Given the description of an element on the screen output the (x, y) to click on. 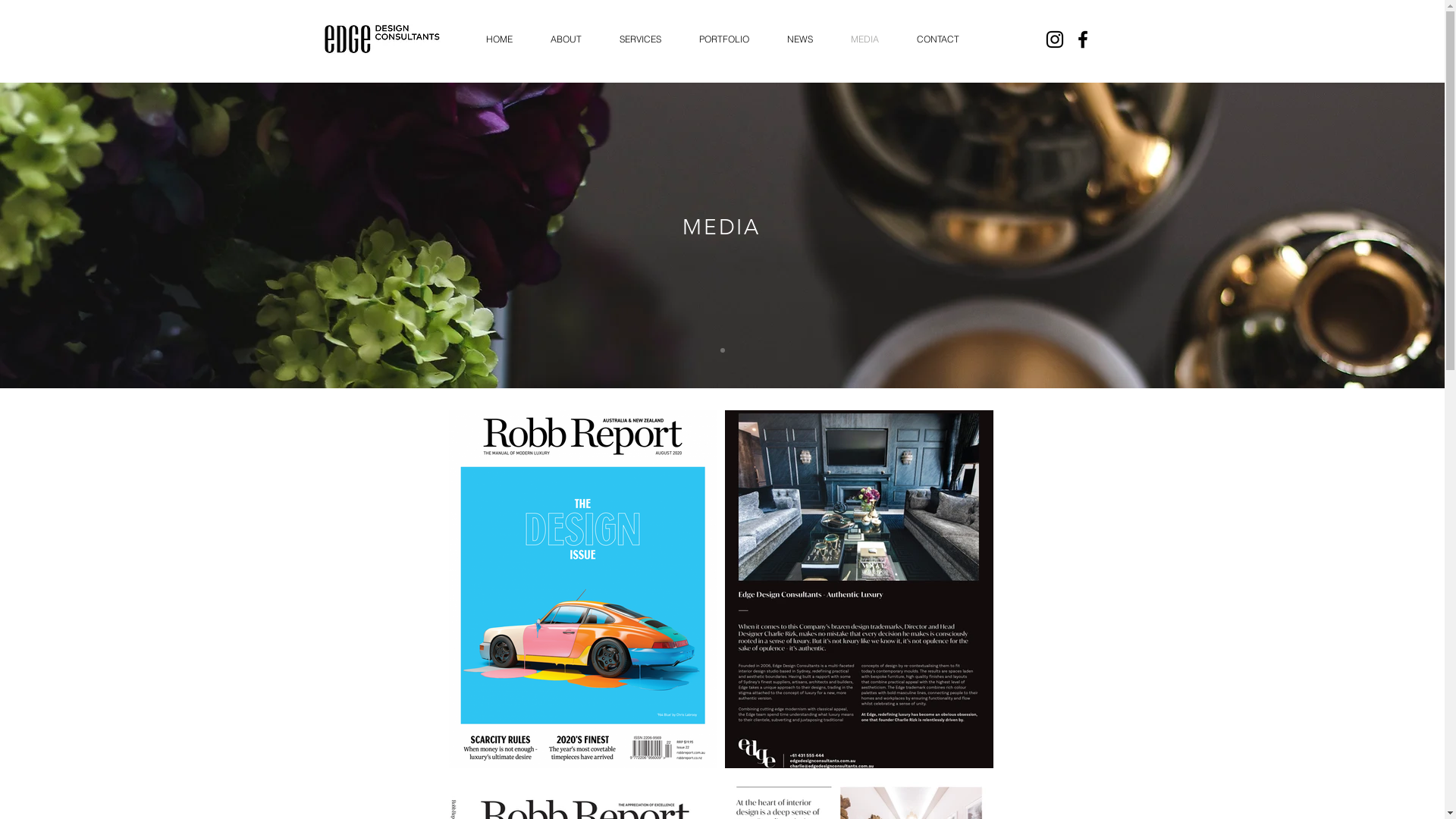
CONTACT Element type: text (937, 38)
HOME Element type: text (499, 38)
SERVICES Element type: text (640, 38)
ABOUT Element type: text (564, 38)
MEDIA Element type: text (864, 38)
PORTFOLIO Element type: text (723, 38)
NEWS Element type: text (799, 38)
